Given the description of an element on the screen output the (x, y) to click on. 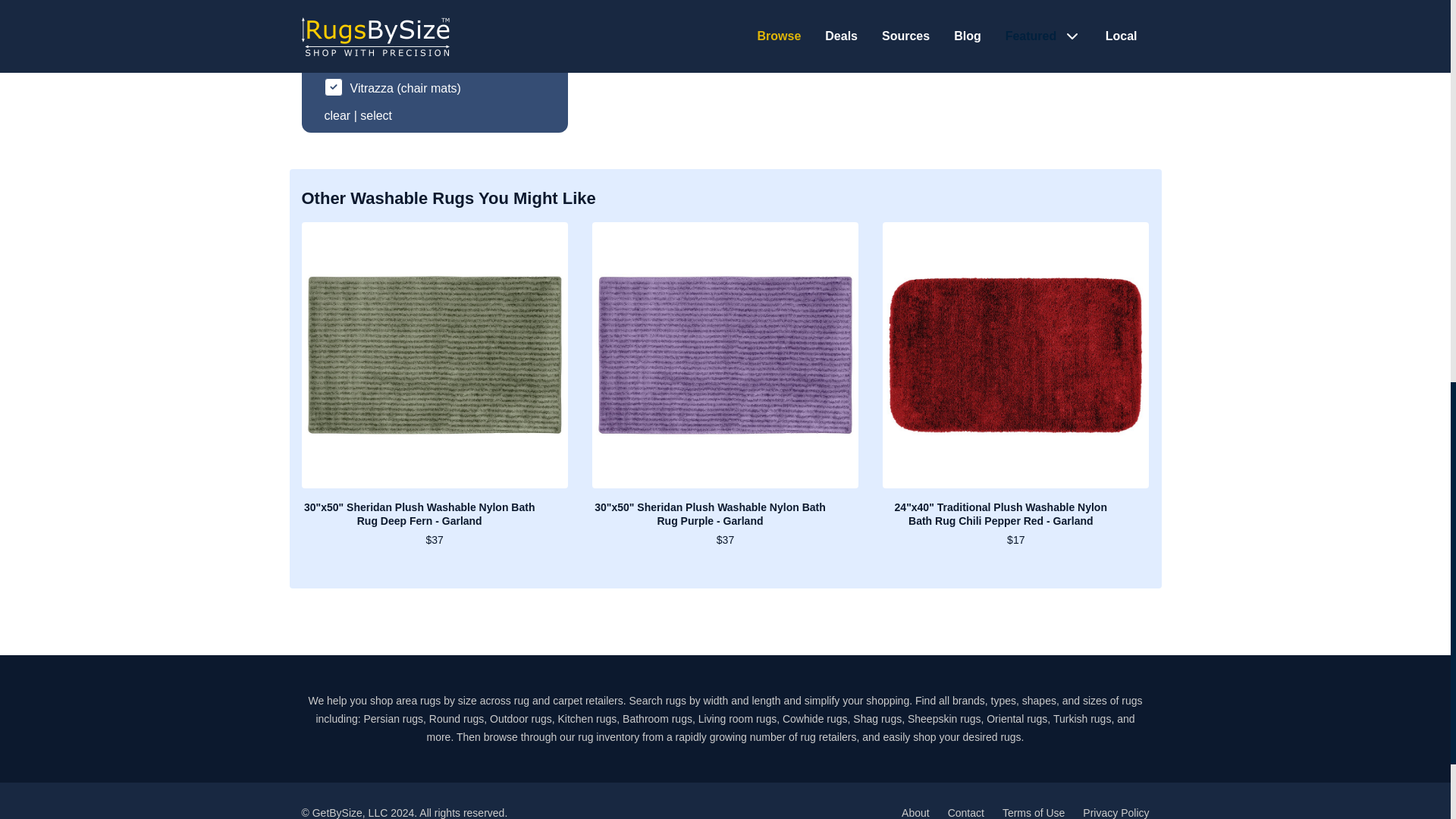
Terms of Use (1033, 812)
Privacy Policy (1115, 812)
select (375, 115)
Contact (965, 812)
clear (337, 115)
About (915, 812)
